Given the description of an element on the screen output the (x, y) to click on. 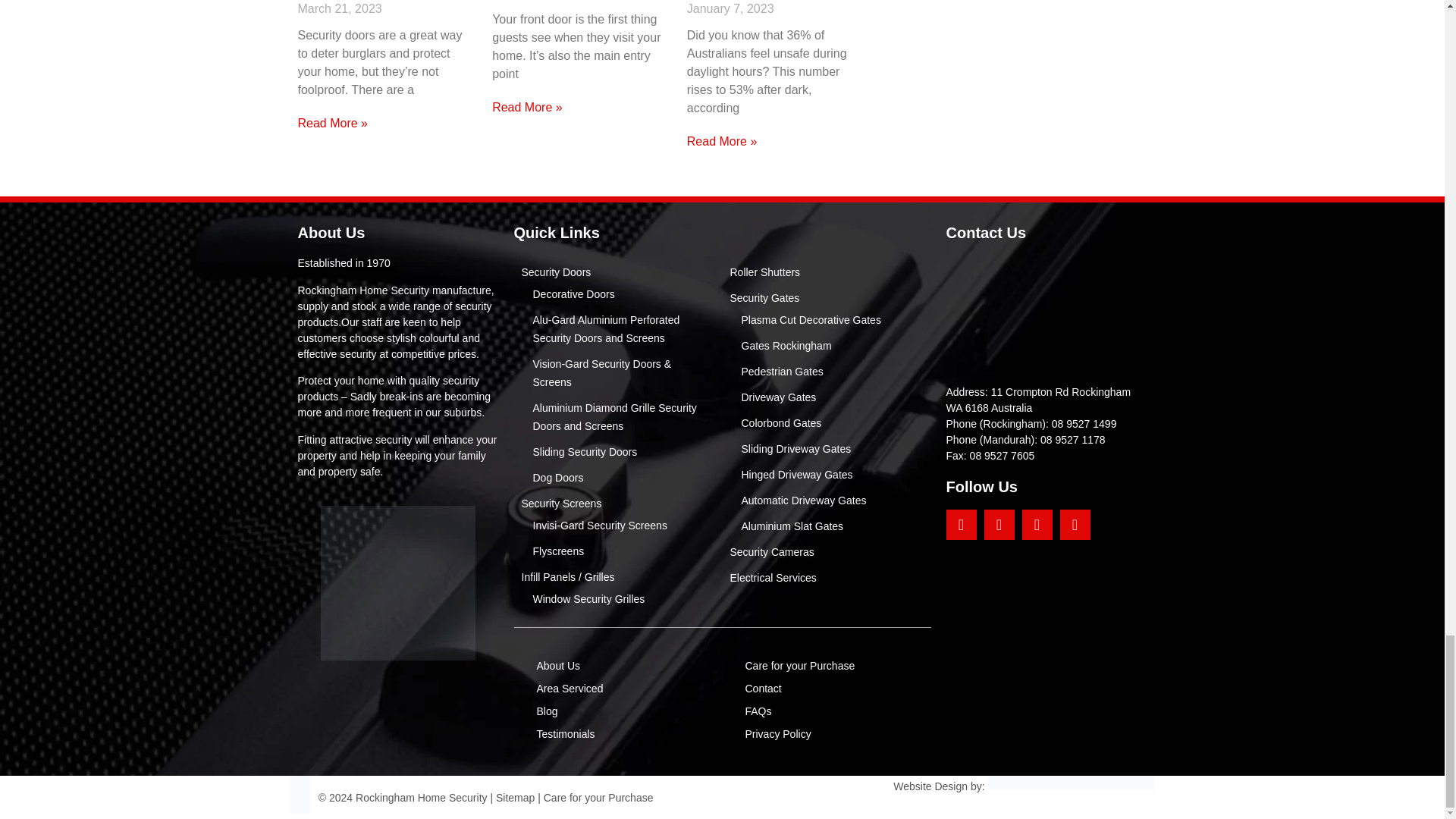
Rockingham Home Security (1046, 312)
